Given the description of an element on the screen output the (x, y) to click on. 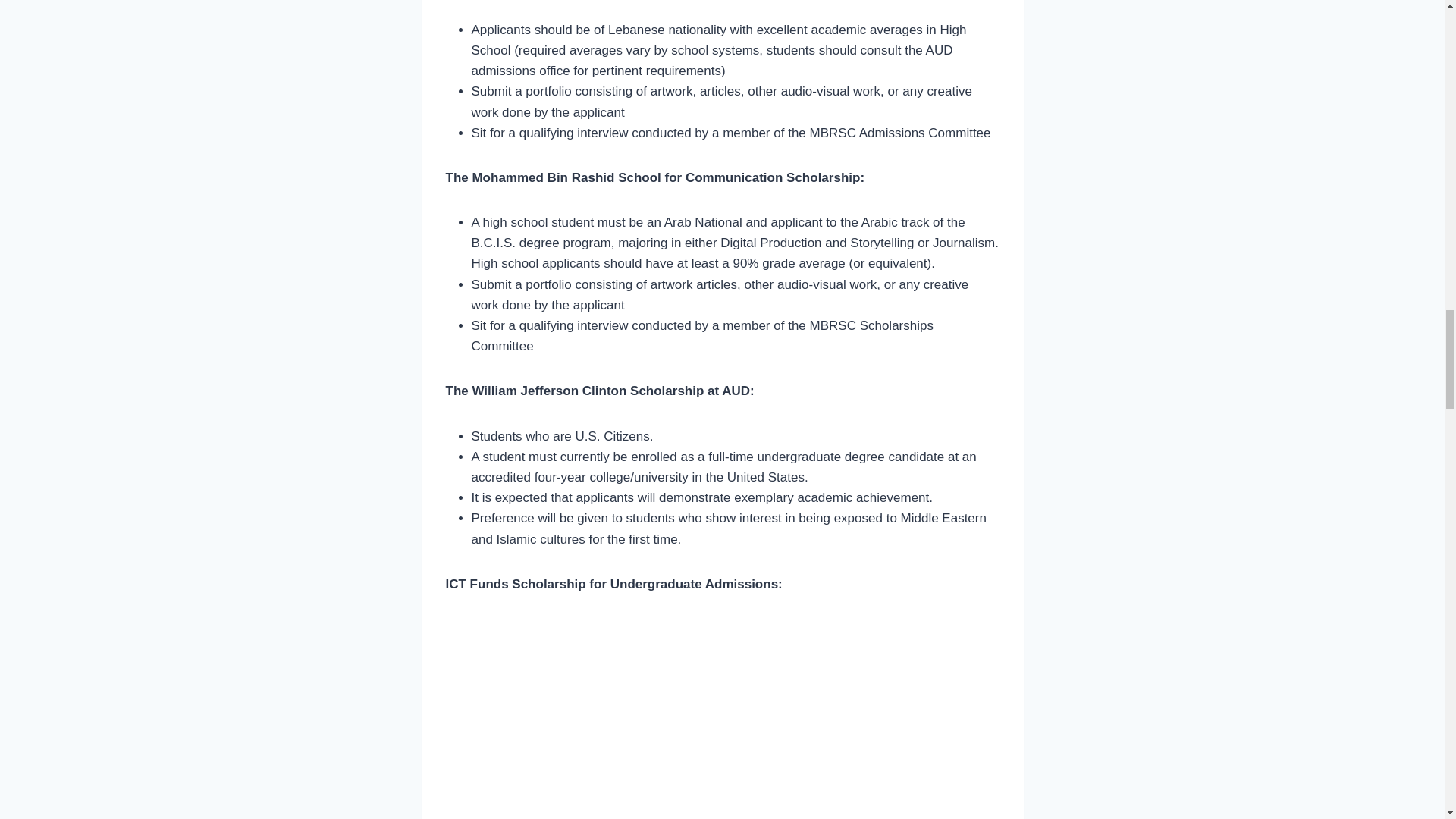
3rd party ad content (721, 3)
